Given the description of an element on the screen output the (x, y) to click on. 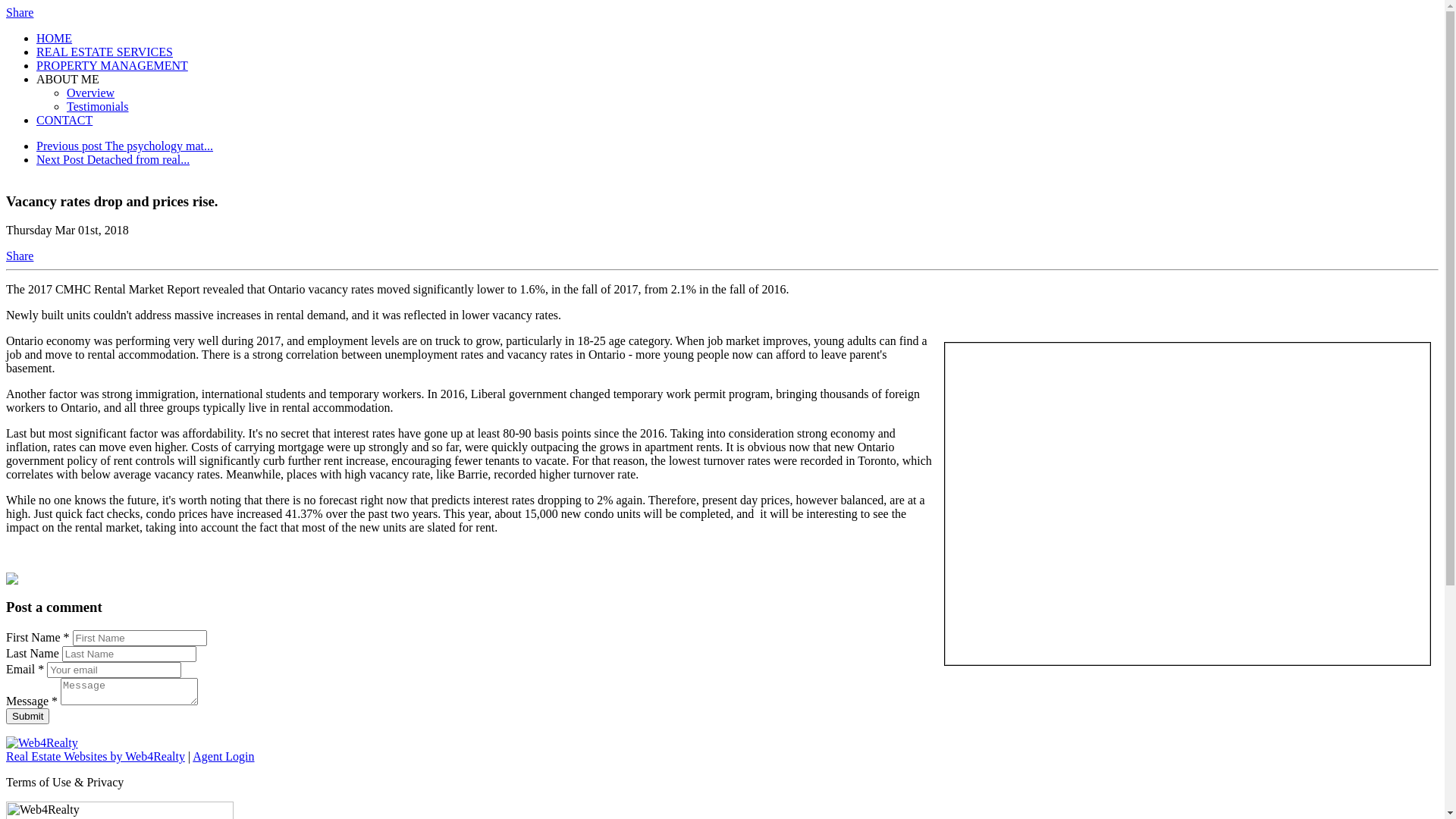
ABOUT ME Element type: text (67, 78)
Submit Element type: text (27, 716)
Real Estate Websites by Web4Realty Element type: text (95, 755)
Agent Login Element type: text (223, 755)
Previous post The psychology mat... Element type: text (124, 145)
Overview Element type: text (90, 92)
Share Element type: text (19, 255)
Testimonials Element type: text (97, 106)
CONTACT Element type: text (64, 119)
PROPERTY MANAGEMENT Element type: text (112, 65)
HOME Element type: text (54, 37)
REAL ESTATE SERVICES Element type: text (104, 51)
Share Element type: text (19, 12)
Next Post Detached from real... Element type: text (112, 159)
